Given the description of an element on the screen output the (x, y) to click on. 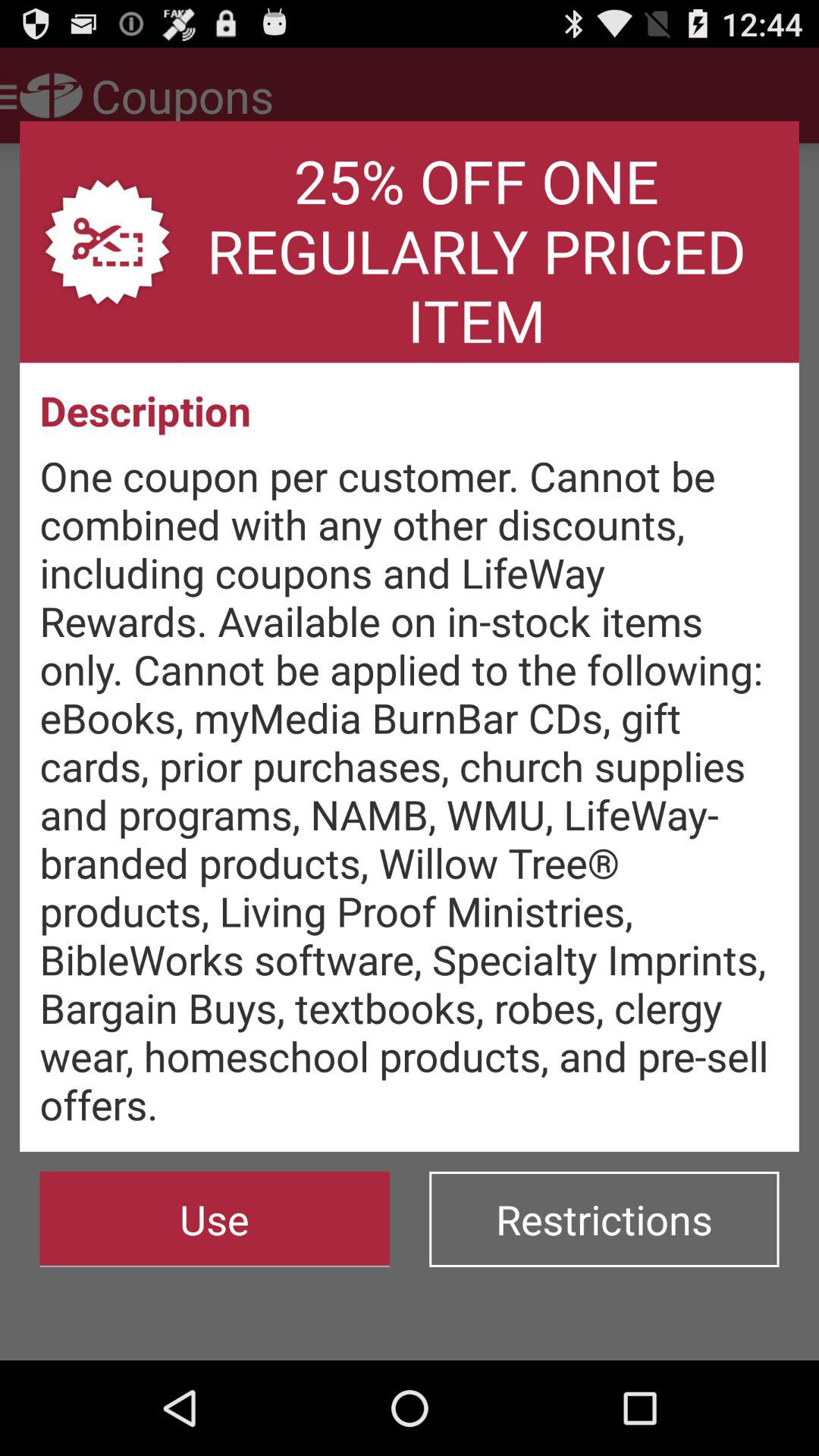
click the item below one coupon per (604, 1219)
